Given the description of an element on the screen output the (x, y) to click on. 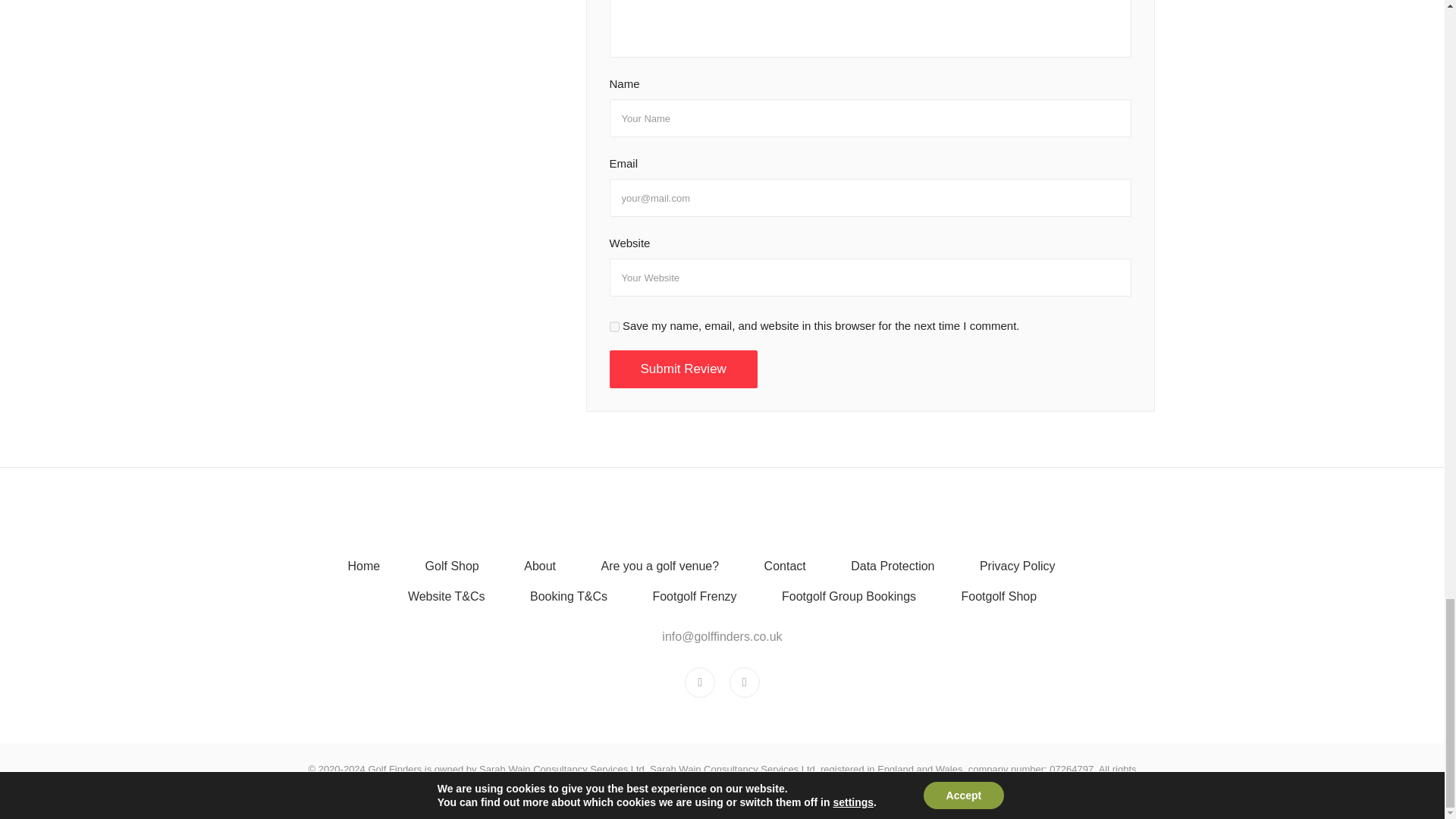
yes (615, 326)
Submit Review (683, 369)
